Given the description of an element on the screen output the (x, y) to click on. 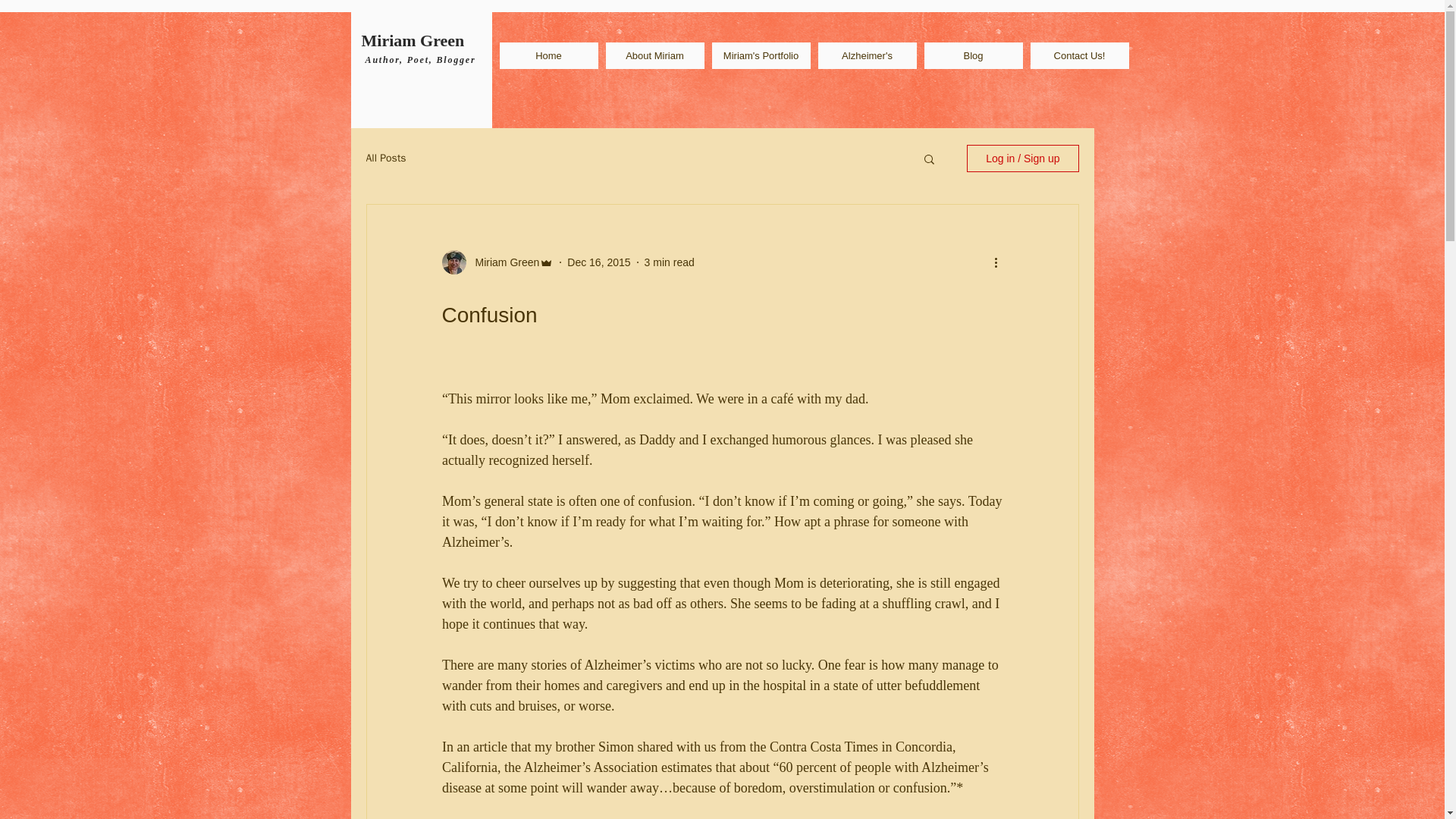
Home (547, 55)
All Posts (385, 158)
Miriam Green (501, 262)
Miriam's Portfolio (760, 55)
3 min read (669, 262)
About Miriam (654, 55)
Blog (972, 55)
Contact Us! (1078, 55)
Dec 16, 2015 (598, 262)
Alzheimer's (865, 55)
